Given the description of an element on the screen output the (x, y) to click on. 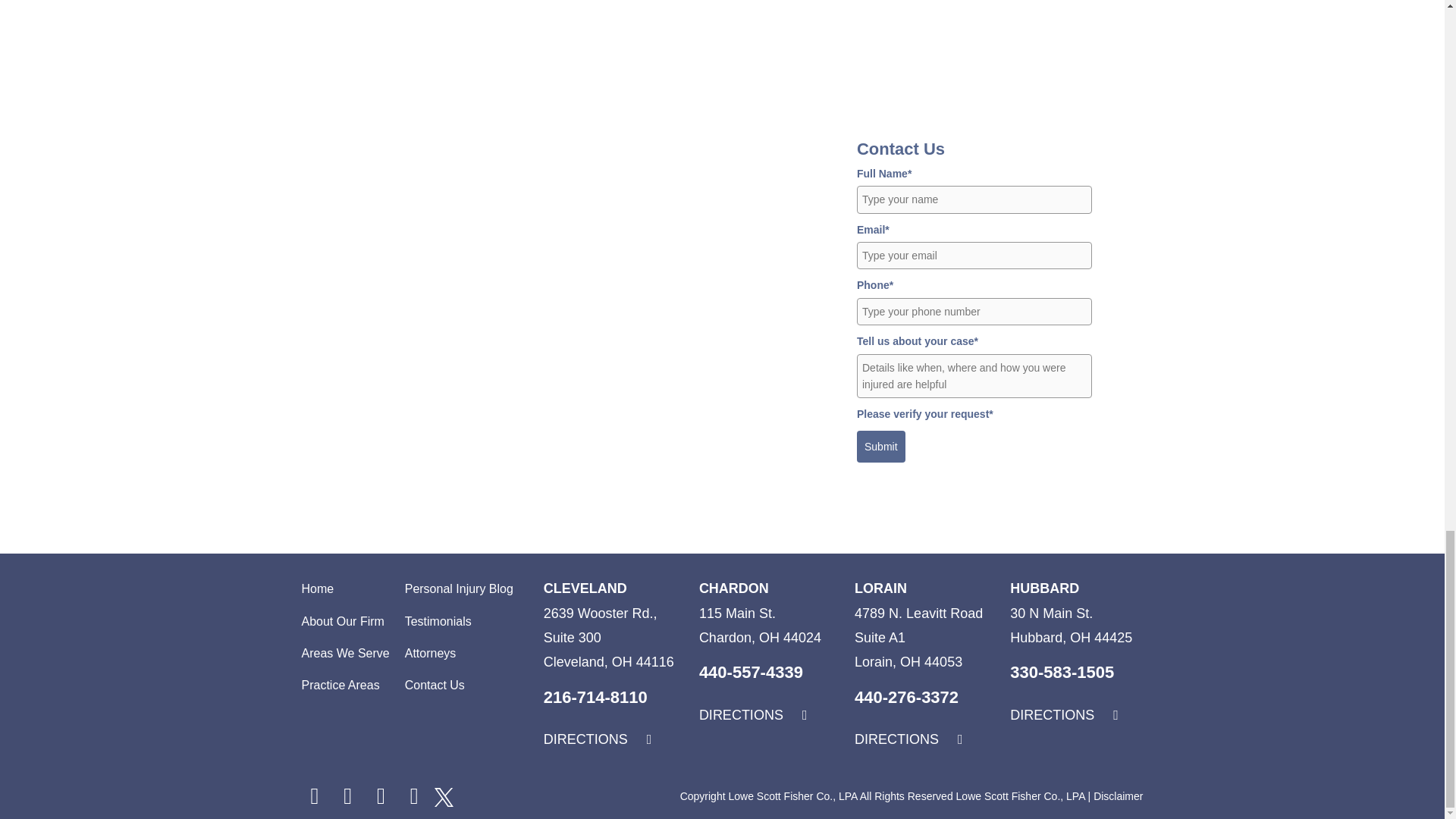
Learn More (585, 588)
Get in Touch (597, 739)
Call Or Text Us (595, 696)
Learn More (733, 588)
Call Or Text Us (750, 671)
Get in Touch (753, 714)
